Given the description of an element on the screen output the (x, y) to click on. 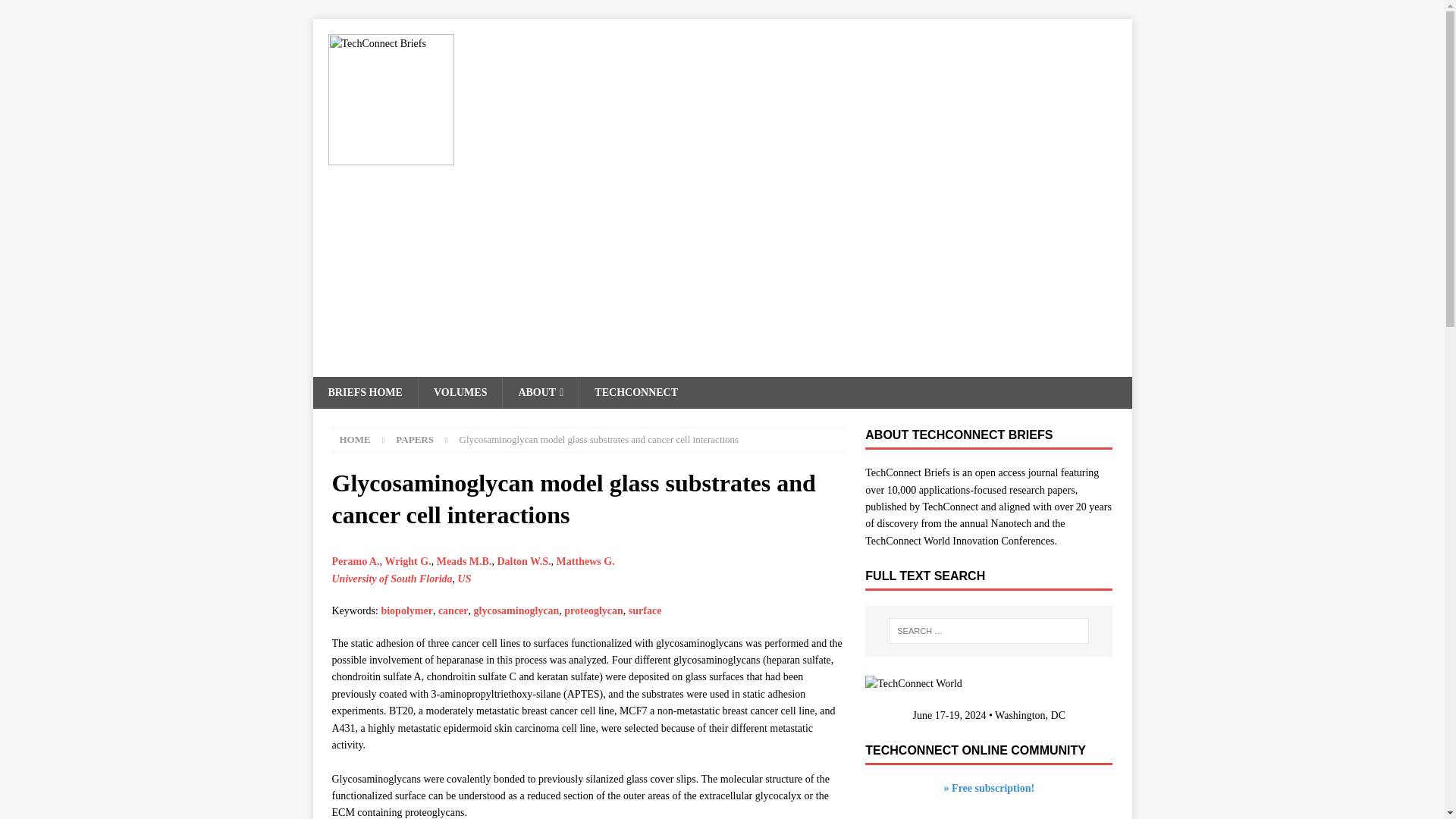
PAPERS (414, 439)
Wright G. (407, 561)
surface (645, 610)
Home (355, 439)
glycosaminoglycan (516, 610)
HOME (355, 439)
BRIEFS HOME (364, 392)
VOLUMES (459, 392)
University of South Florida (391, 578)
US (464, 578)
